Given the description of an element on the screen output the (x, y) to click on. 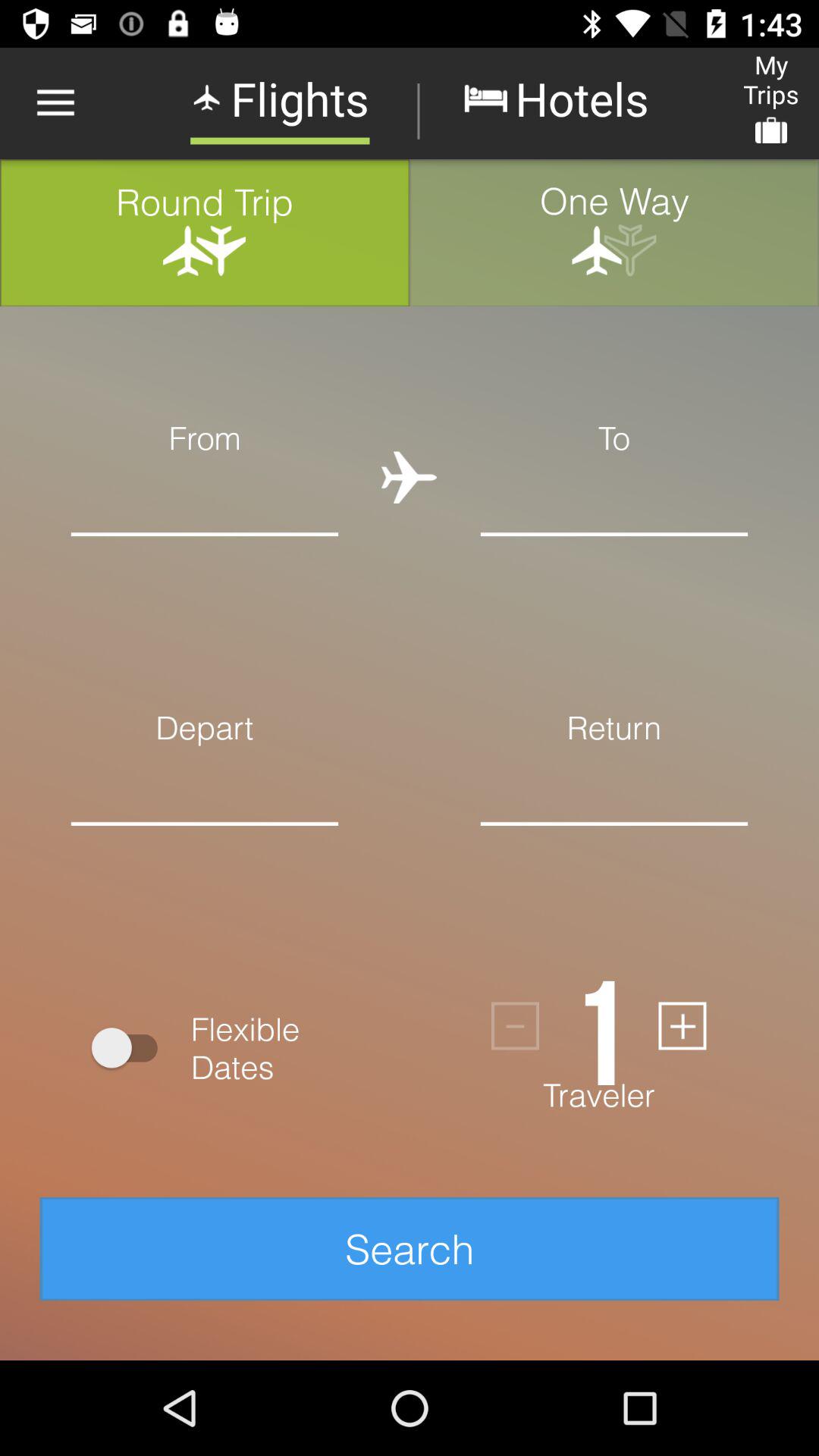
addition button (682, 1025)
